Given the description of an element on the screen output the (x, y) to click on. 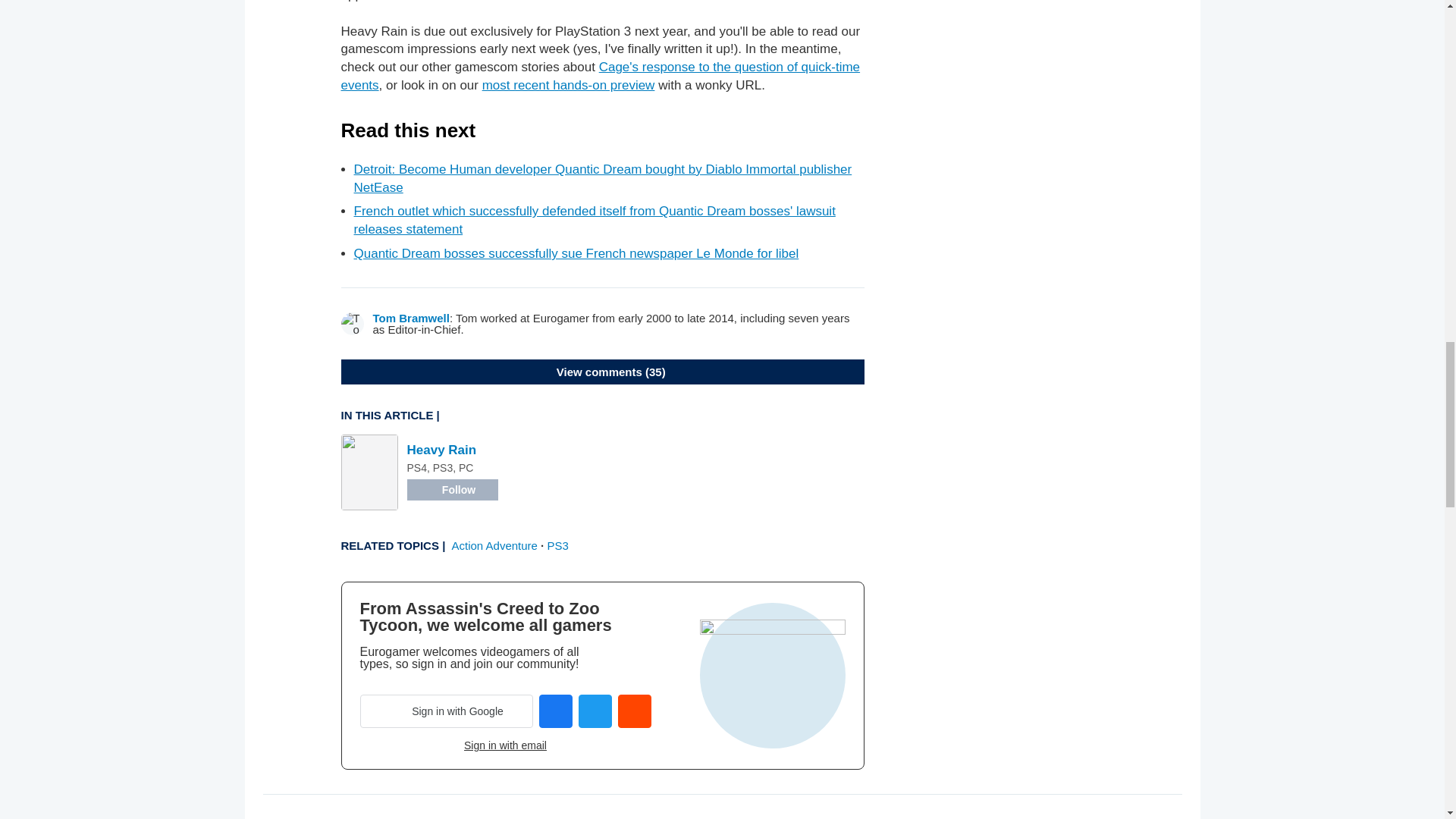
Heavy Rain (441, 450)
most recent hands-on preview (568, 84)
Follow (451, 489)
Tom Bramwell (410, 318)
Cage's response to the question of quick-time events (600, 75)
Action Adventure (494, 545)
